Given the description of an element on the screen output the (x, y) to click on. 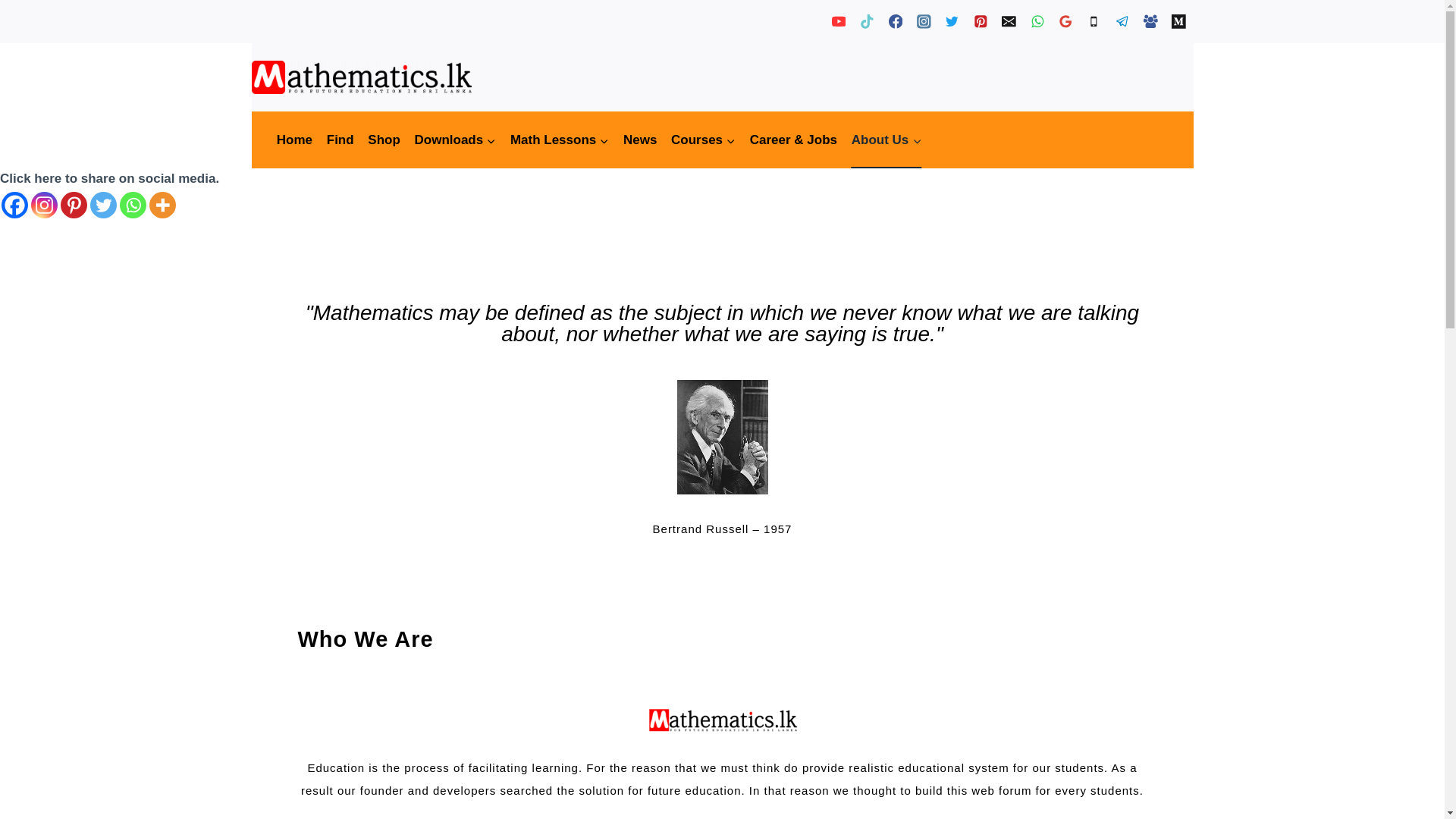
Math Lessons (559, 139)
Pinterest (74, 204)
Whatsapp (133, 204)
Instagram (44, 204)
Twitter (103, 204)
More (162, 204)
Downloads (454, 139)
Courses (702, 139)
Facebook (14, 204)
